Given the description of an element on the screen output the (x, y) to click on. 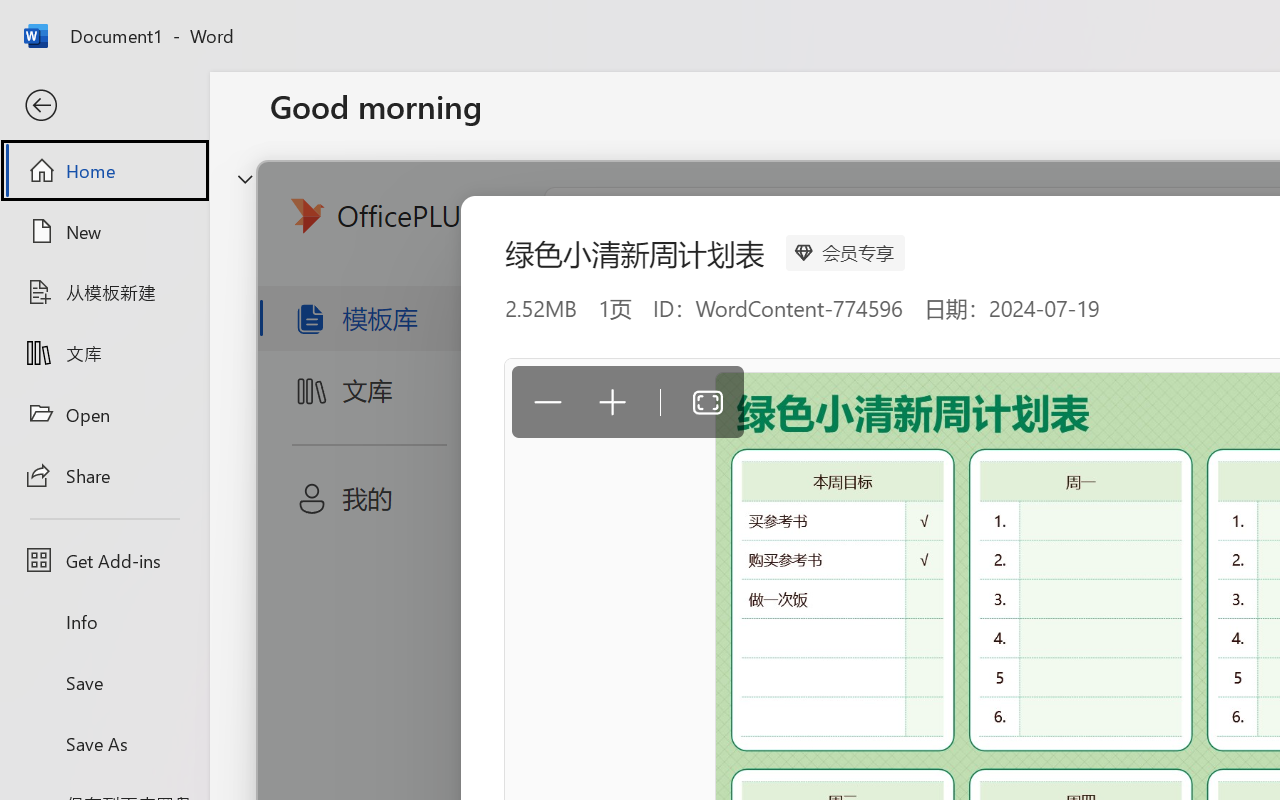
Pinned (417, 636)
Shared with Me (563, 636)
Info (104, 621)
Save As (104, 743)
